Given the description of an element on the screen output the (x, y) to click on. 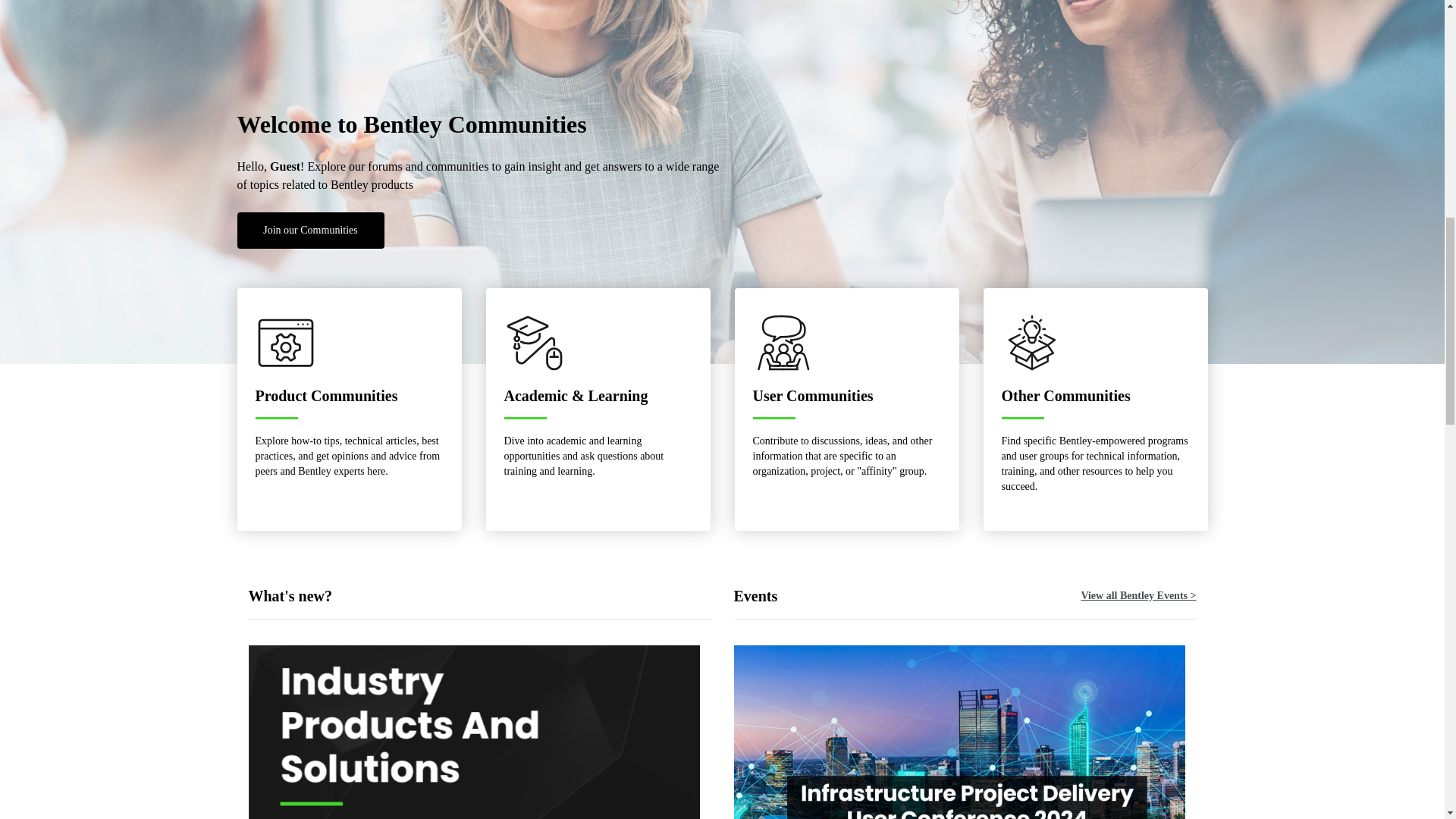
Join our Communities (309, 230)
